Given the description of an element on the screen output the (x, y) to click on. 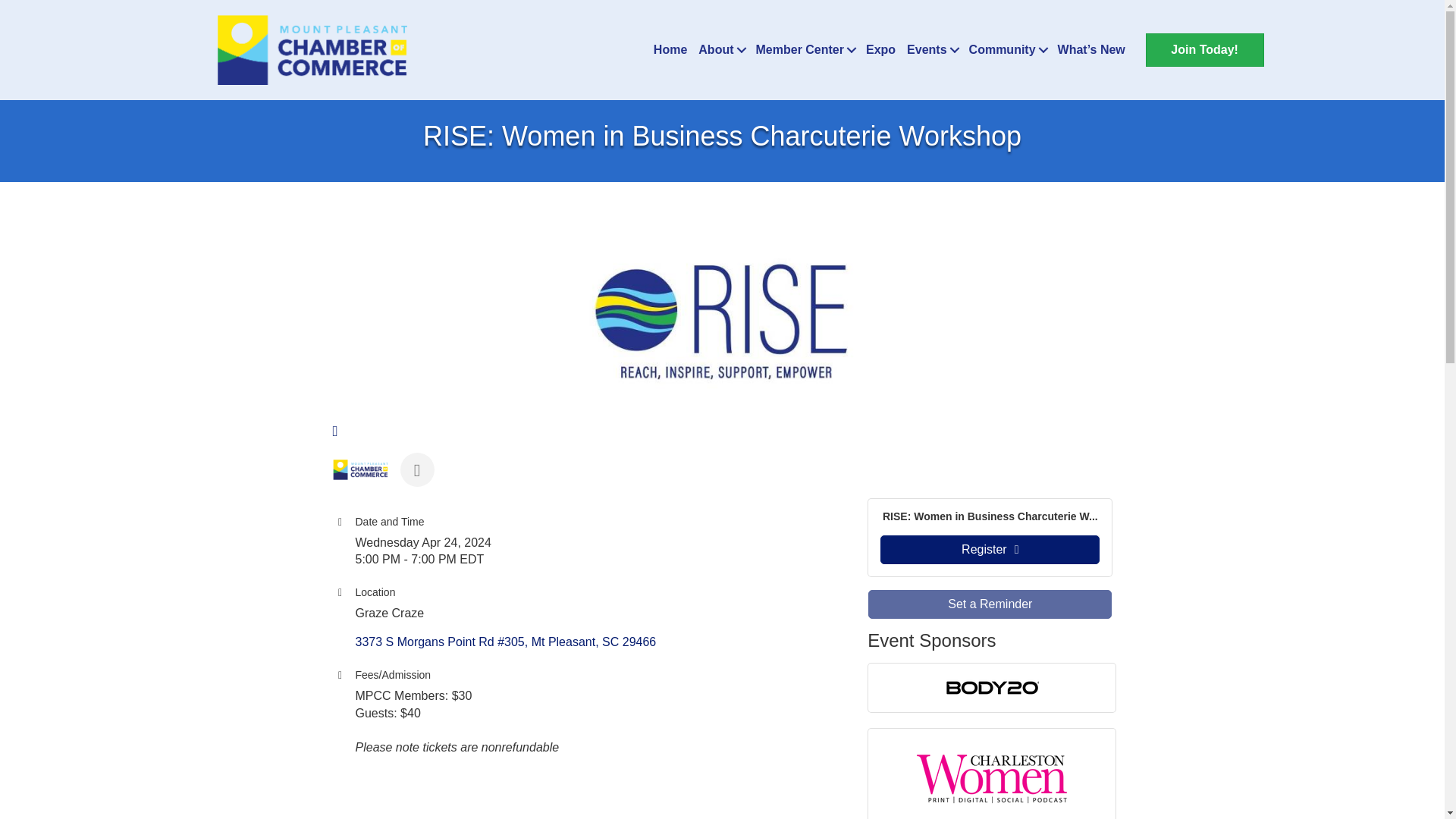
Join Today! (1204, 49)
Expo (880, 49)
Register (989, 549)
Community (1007, 49)
Home (670, 49)
Events (931, 49)
Member Center (805, 49)
About (721, 49)
Set a Reminder (989, 604)
